Given the description of an element on the screen output the (x, y) to click on. 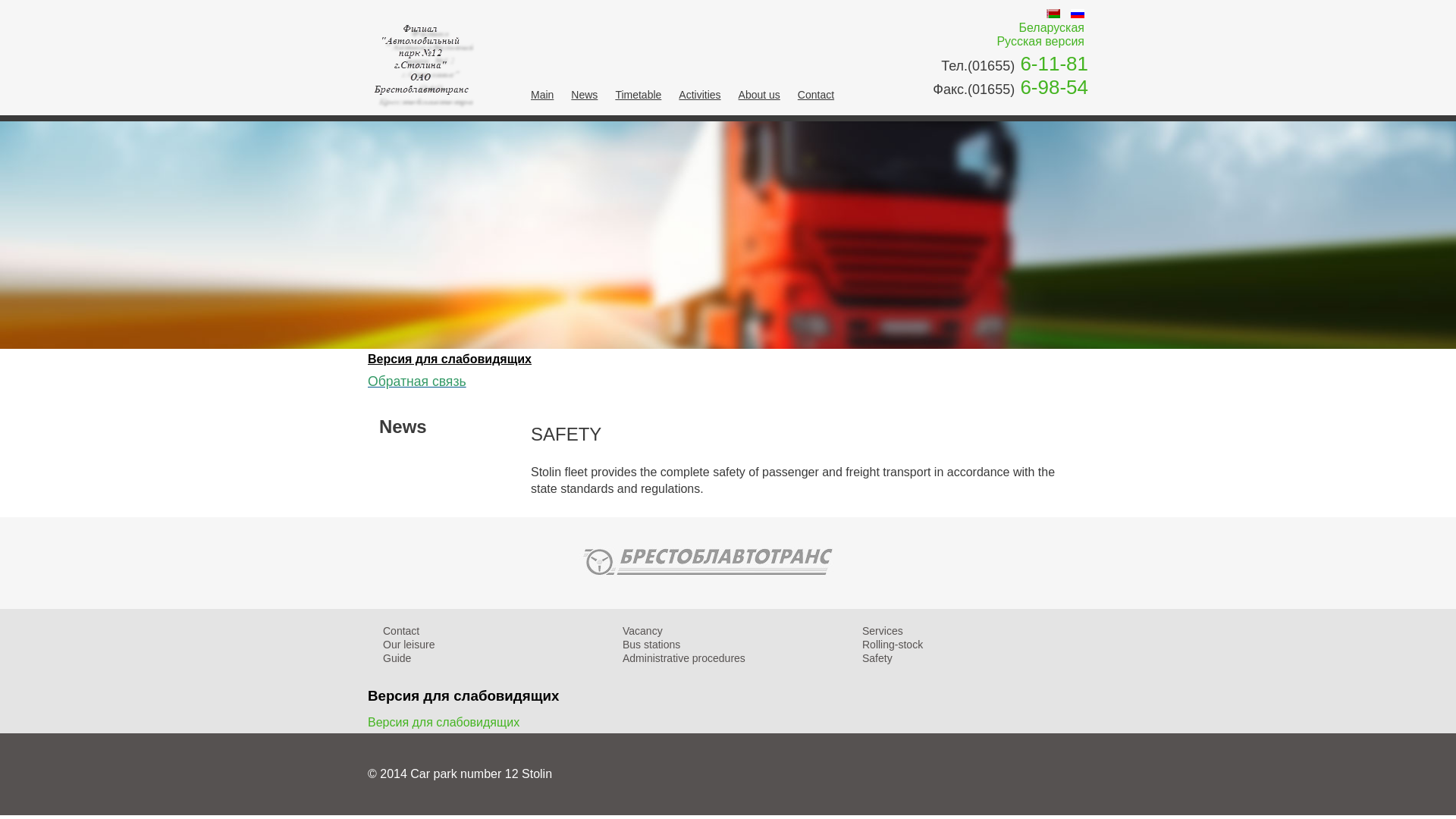
Contact Element type: text (815, 99)
Administrative procedures Element type: text (683, 658)
Safety Element type: text (877, 658)
News Element type: text (584, 99)
Main Element type: text (542, 99)
Contact Element type: text (400, 630)
Timetable Element type: text (638, 99)
SAFETY Element type: text (565, 433)
Services Element type: text (882, 630)
About us Element type: text (759, 99)
Vacancy Element type: text (642, 630)
Bus stations Element type: text (651, 644)
Rolling-stock Element type: text (892, 644)
Activities Element type: text (699, 99)
Guide Element type: text (396, 658)
